Given the description of an element on the screen output the (x, y) to click on. 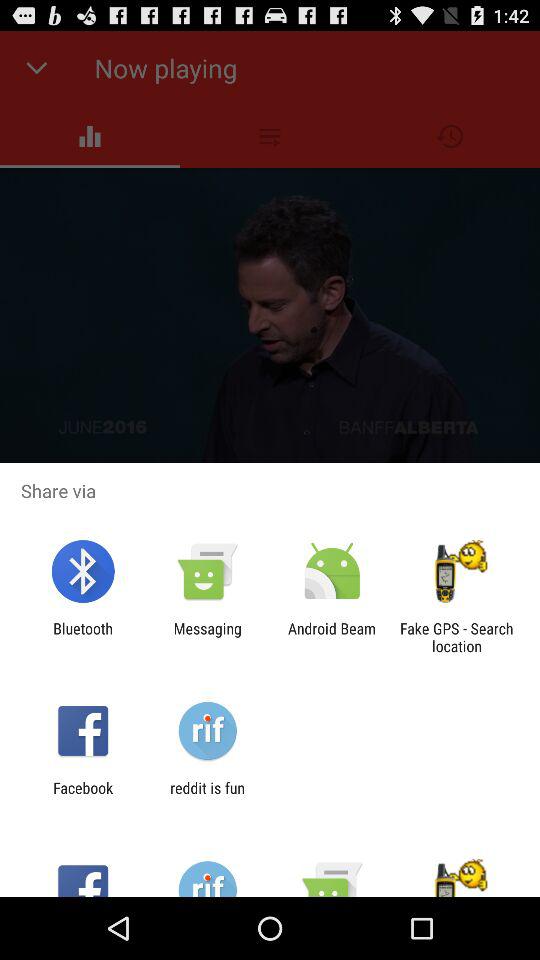
jump to the android beam item (332, 637)
